Given the description of an element on the screen output the (x, y) to click on. 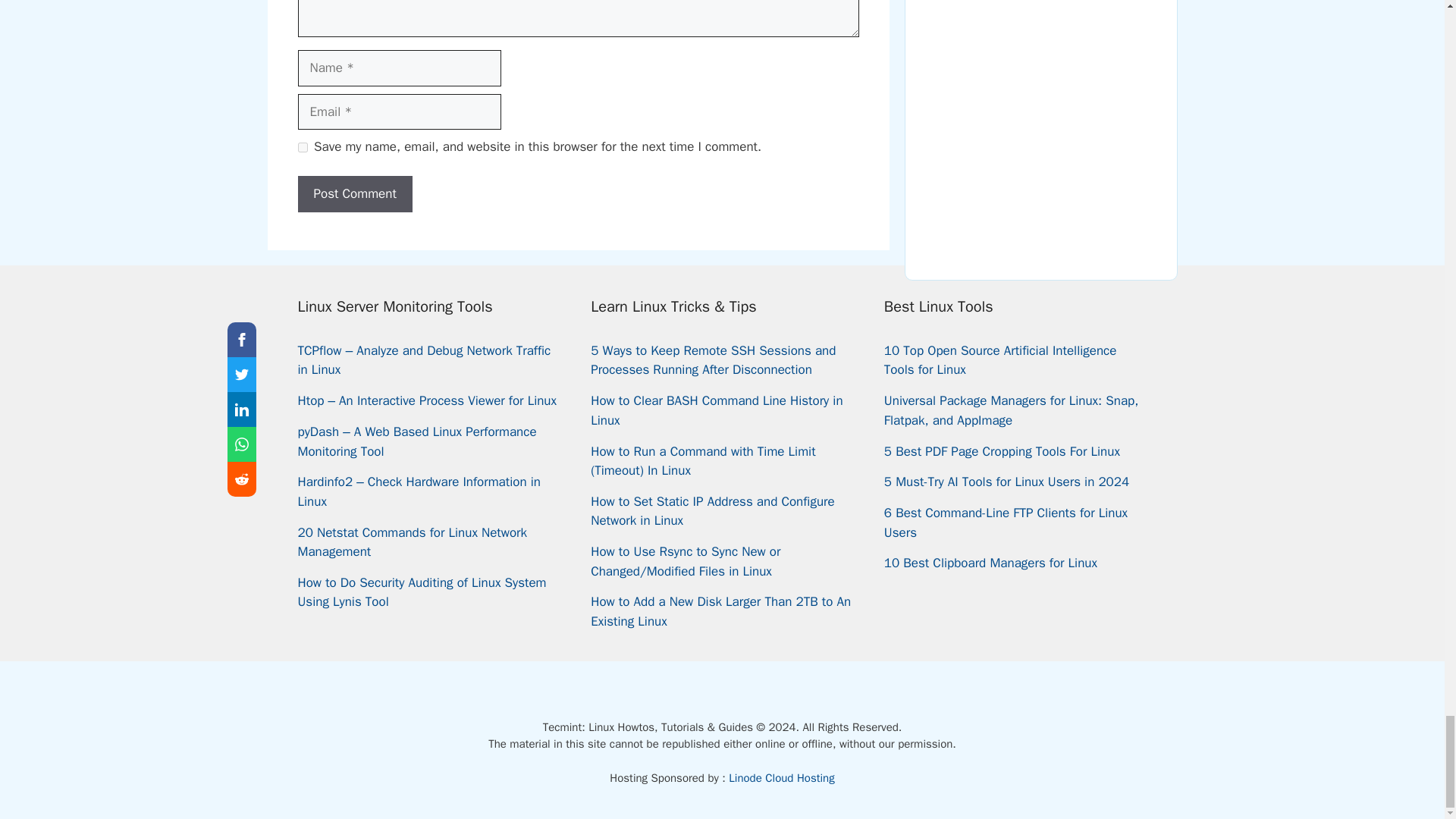
yes (302, 147)
Post Comment (354, 194)
